Given the description of an element on the screen output the (x, y) to click on. 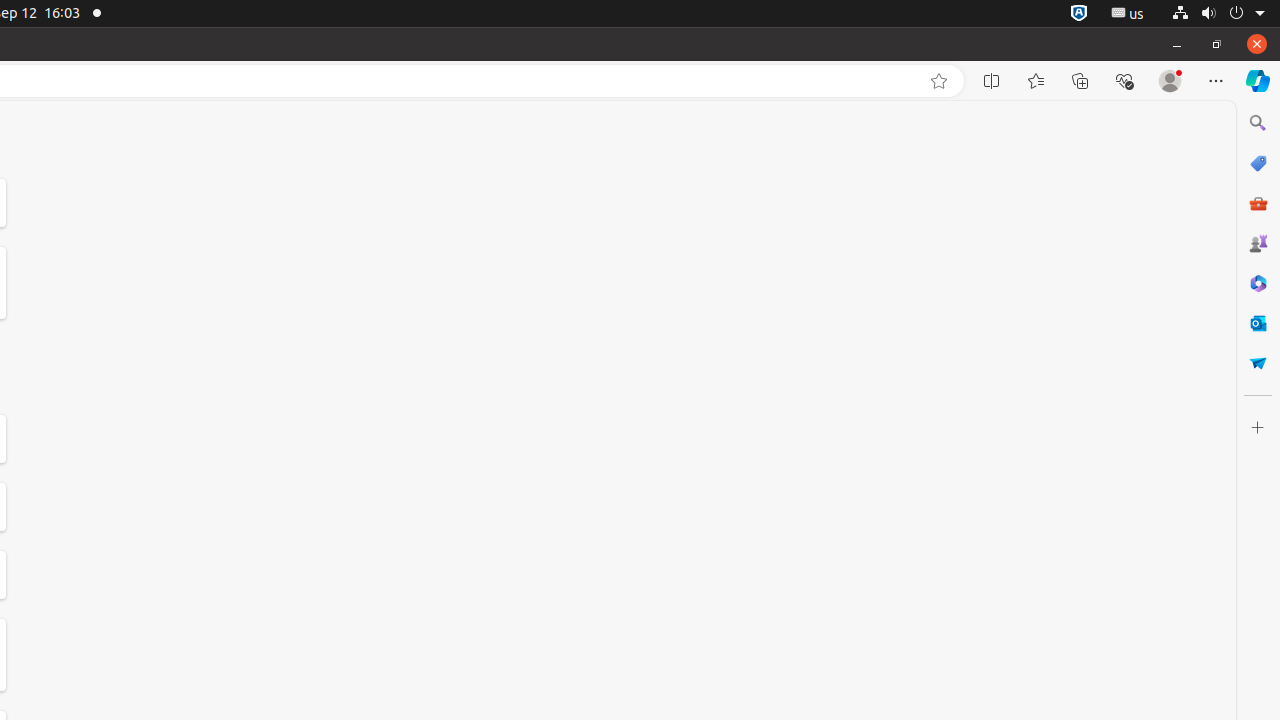
Games Element type: push-button (1258, 243)
:1.72/StatusNotifierItem Element type: menu (1079, 13)
Microsoft Shopping Element type: push-button (1258, 163)
Collections Element type: push-button (1080, 81)
